Given the description of an element on the screen output the (x, y) to click on. 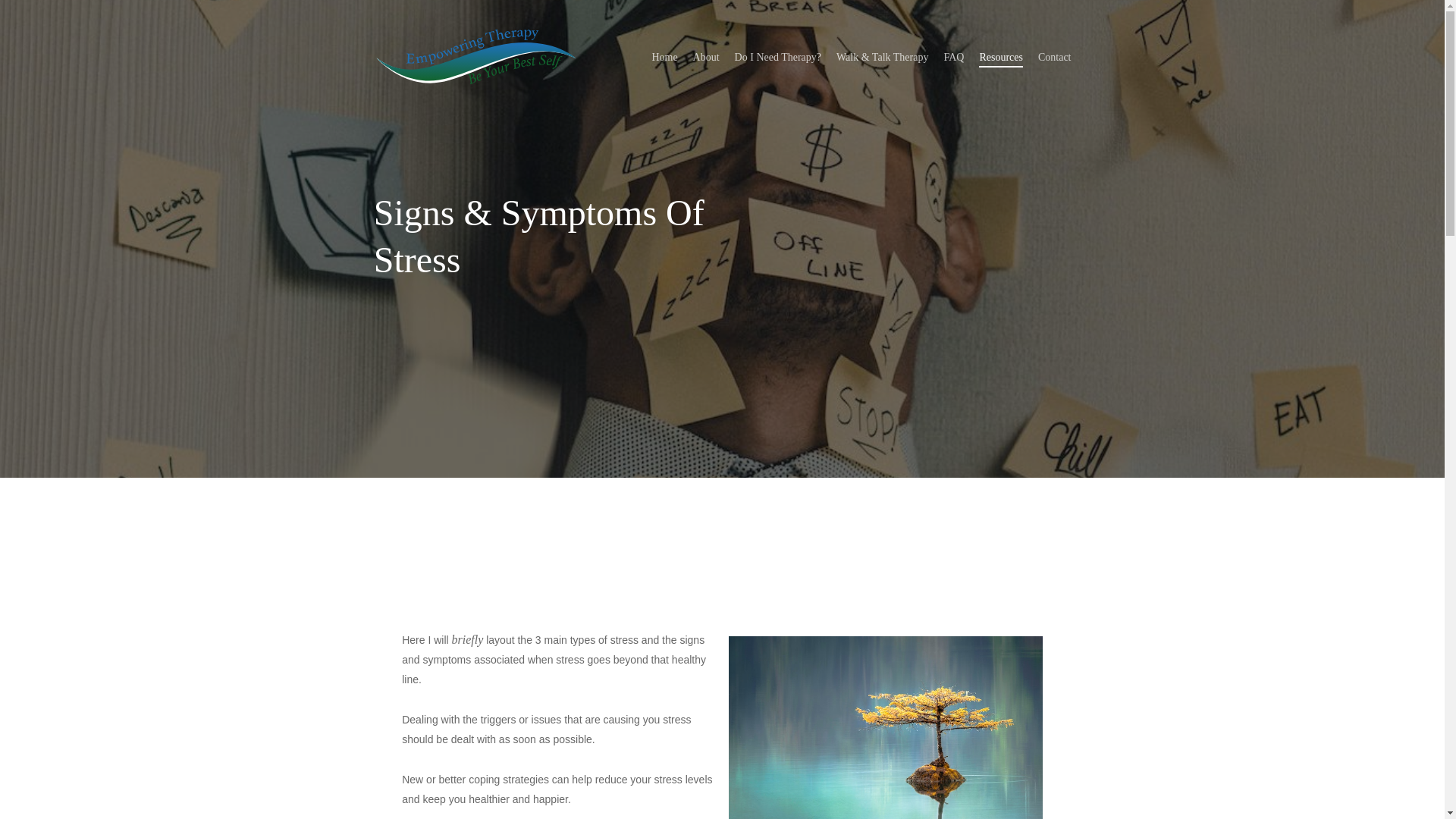
Resources (1000, 57)
Home (958, 516)
FAQ (953, 57)
About (958, 542)
Contact (1054, 57)
About (706, 57)
Home (663, 57)
Contact (958, 567)
Privacy Policy (958, 722)
Do I Need Therapy? (958, 593)
Do I Need Therapy? (778, 57)
Signs Of Depression (958, 670)
FAQ (958, 619)
